Given the description of an element on the screen output the (x, y) to click on. 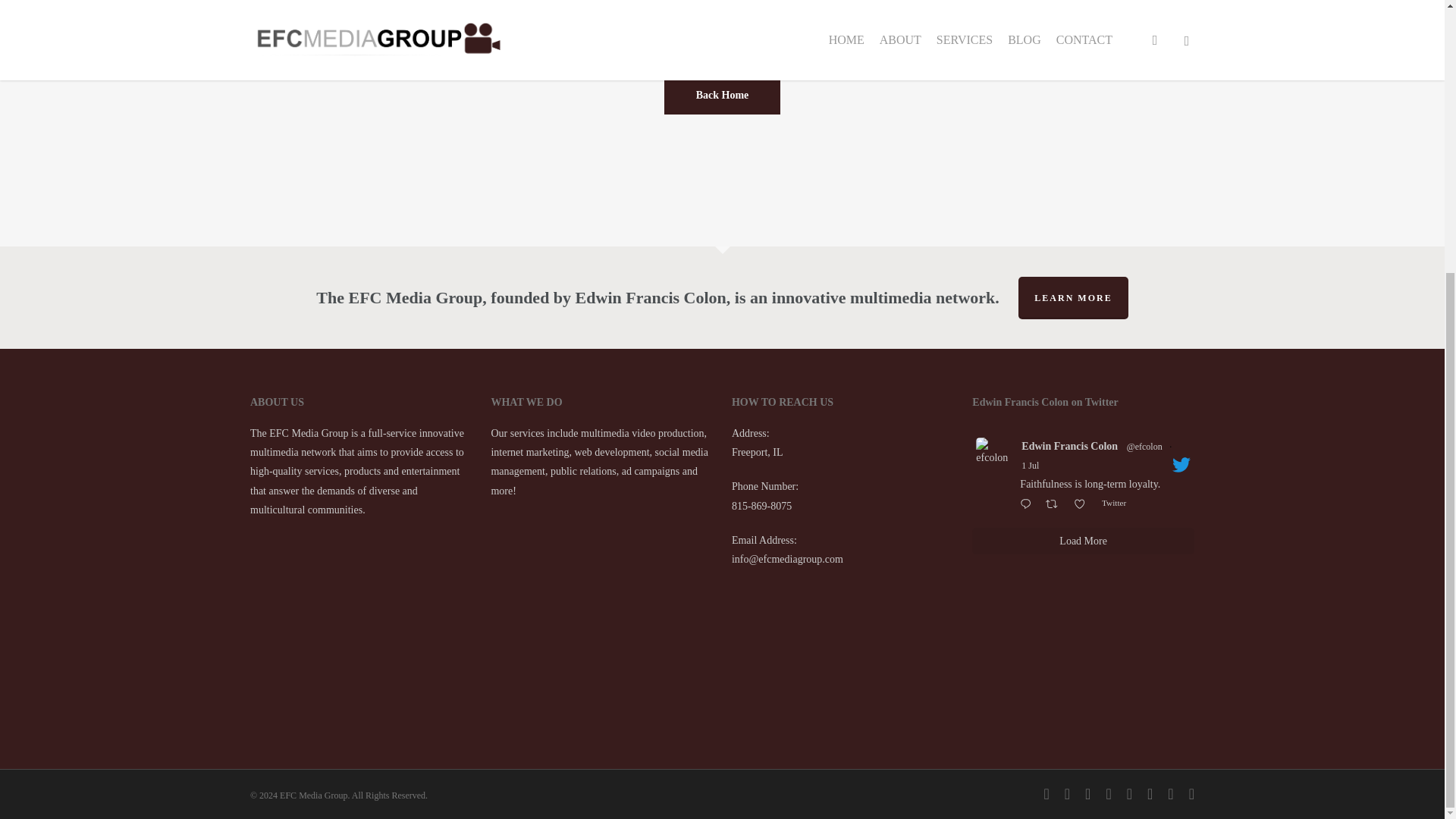
1 Jul (1030, 465)
Load More (1082, 540)
Retweet on Twitter 1807926798702809282 (1056, 505)
Edwin Francis Colon (1070, 446)
Twitter 1807926798702809282 (1116, 502)
LEARN MORE (1071, 297)
Back Home (721, 94)
Reply on Twitter 1807926798702809282 (1029, 505)
Like on Twitter 1807926798702809282 (1083, 505)
815-869-8075 (762, 505)
